Given the description of an element on the screen output the (x, y) to click on. 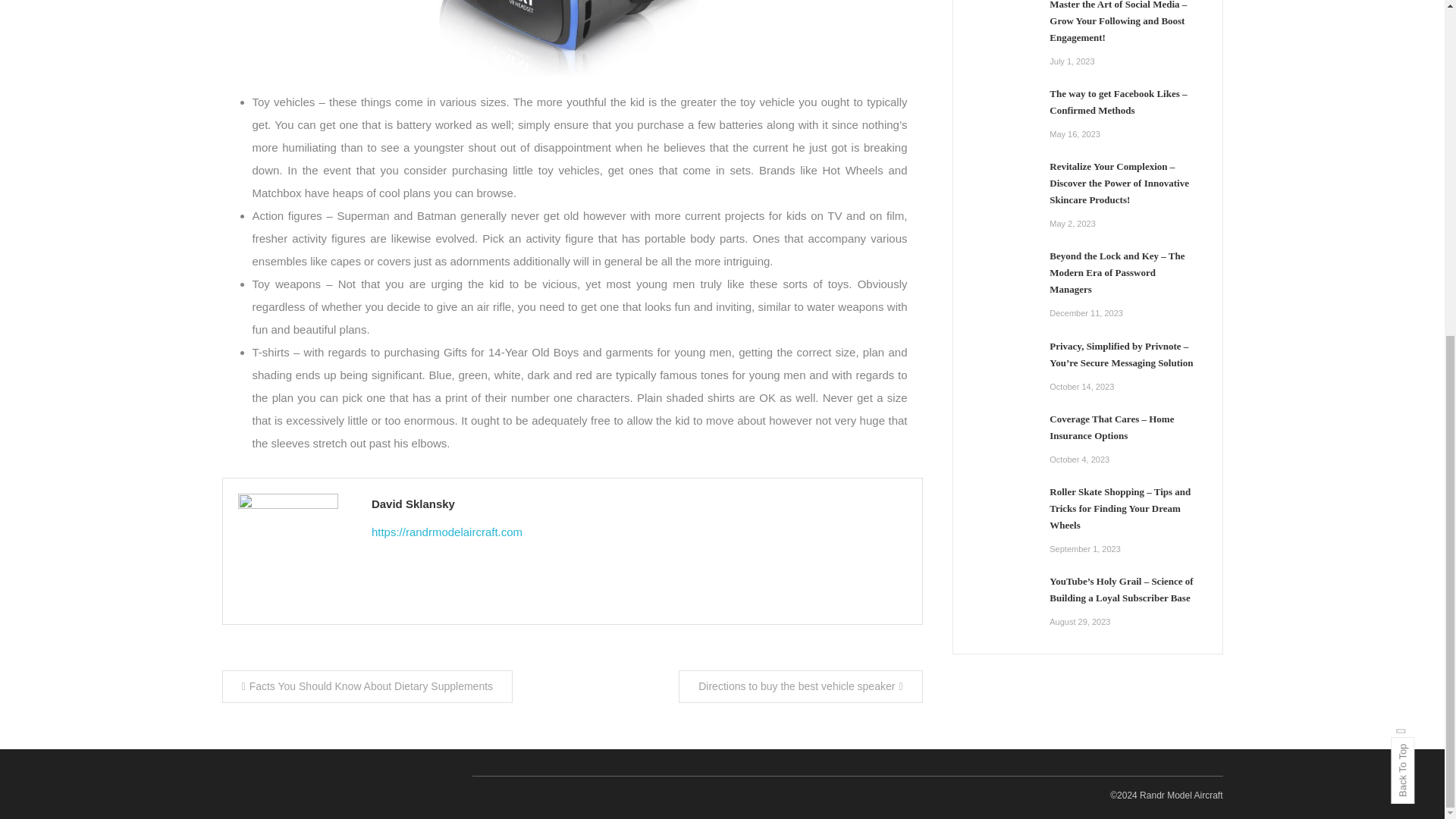
December 11, 2023 (1085, 312)
May 16, 2023 (1074, 133)
October 14, 2023 (1081, 386)
October 4, 2023 (1079, 459)
August 29, 2023 (1079, 621)
Directions to buy the best vehicle speaker (799, 686)
September 1, 2023 (1085, 548)
Facts You Should Know About Dietary Supplements (366, 686)
July 1, 2023 (1071, 61)
May 2, 2023 (1072, 223)
David Sklansky (639, 503)
